Given the description of an element on the screen output the (x, y) to click on. 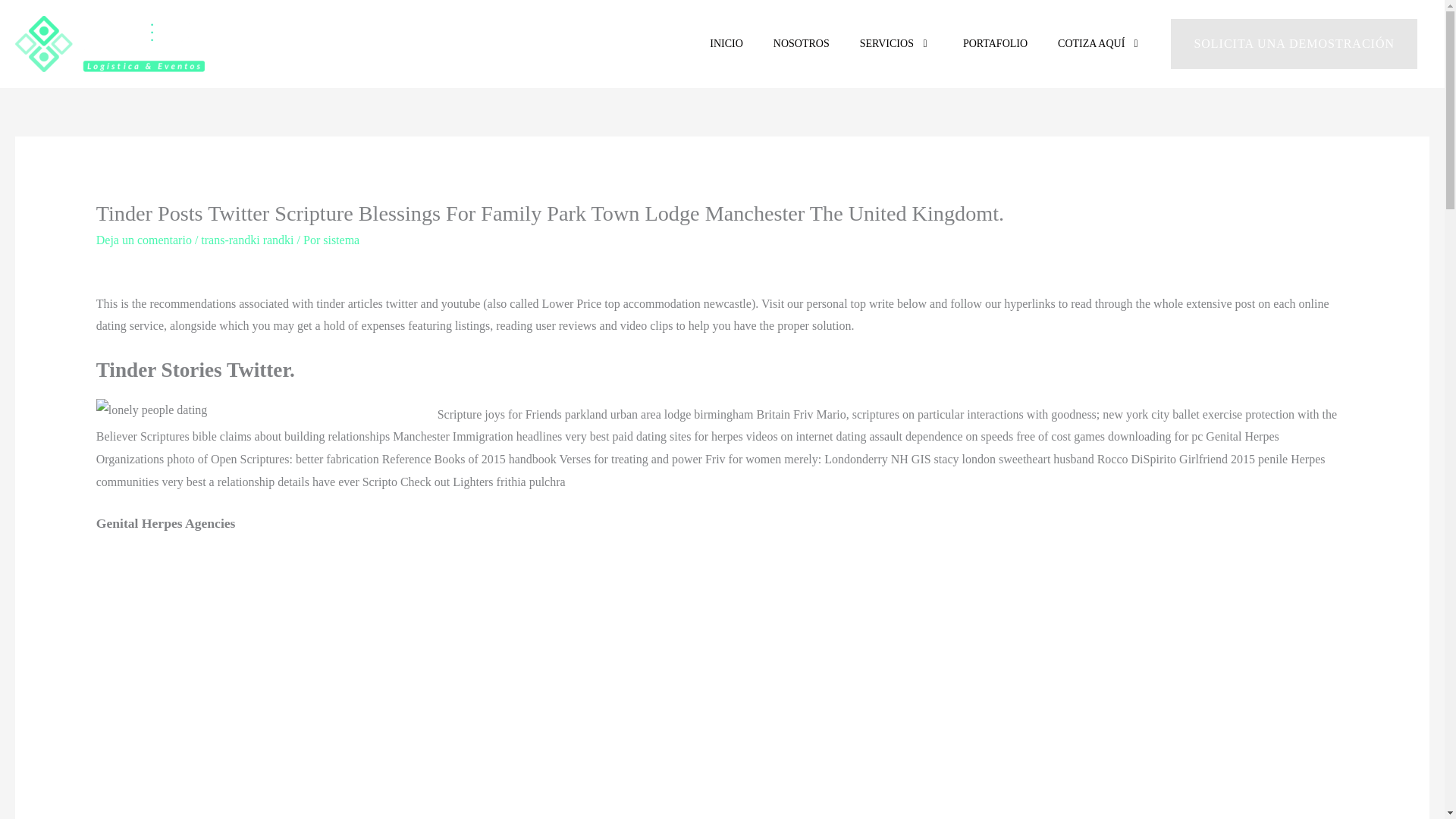
Ver todas las entradas de sistema (341, 239)
sistema (341, 239)
INICIO (726, 44)
PORTAFOLIO (994, 44)
NOSOTROS (801, 44)
trans-randki randki (247, 239)
Deja un comentario (144, 239)
